Given the description of an element on the screen output the (x, y) to click on. 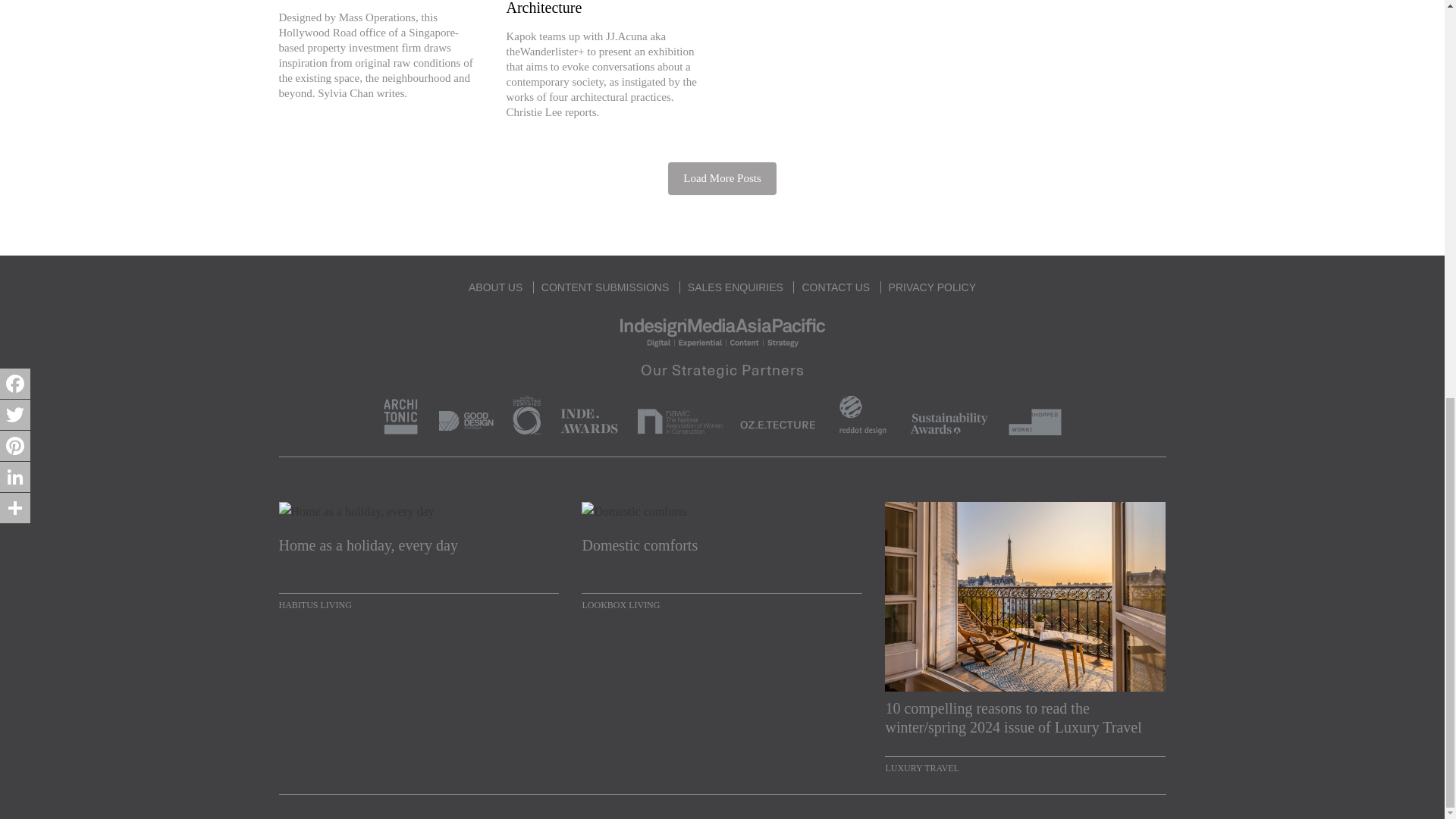
Home as a holiday, every day (419, 555)
Our Strategic Partners (722, 395)
Domestic comforts (720, 555)
Brought to you by Indesign Media Asia Pacific (721, 331)
